Given the description of an element on the screen output the (x, y) to click on. 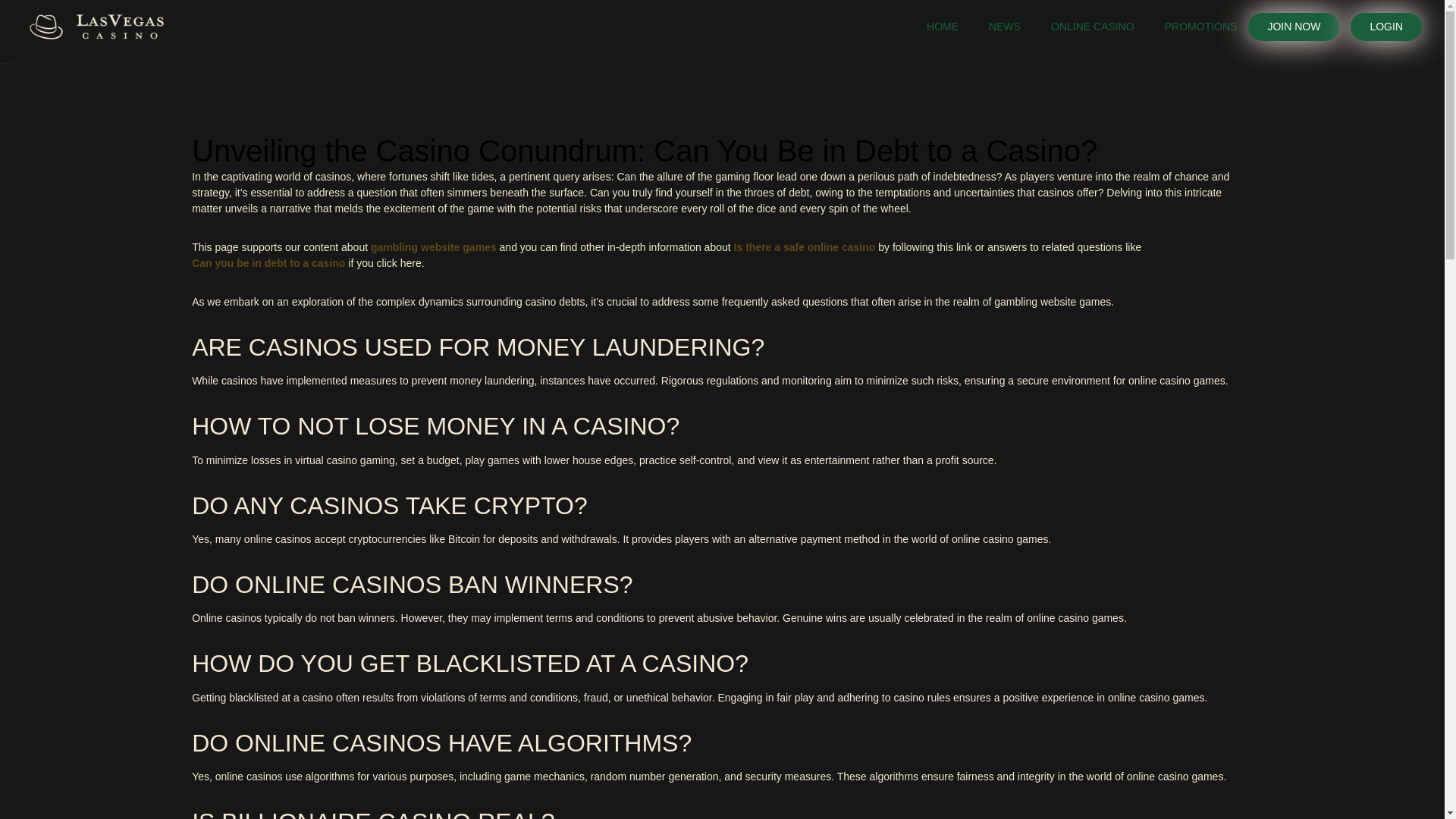
Join Now (1293, 26)
ONLINE CASINO (1092, 26)
Can you be in debt to a casino (268, 263)
LOGIN (1386, 26)
JOIN NOW (1293, 26)
HOME (942, 26)
gambling website games (433, 247)
PROMOTIONS (1200, 26)
NEWS (1004, 26)
Is there a safe online casino (804, 247)
Can you be in debt to a casino (268, 263)
gambling website games (433, 247)
Is there a safe online casino (804, 247)
login (1386, 26)
